Given the description of an element on the screen output the (x, y) to click on. 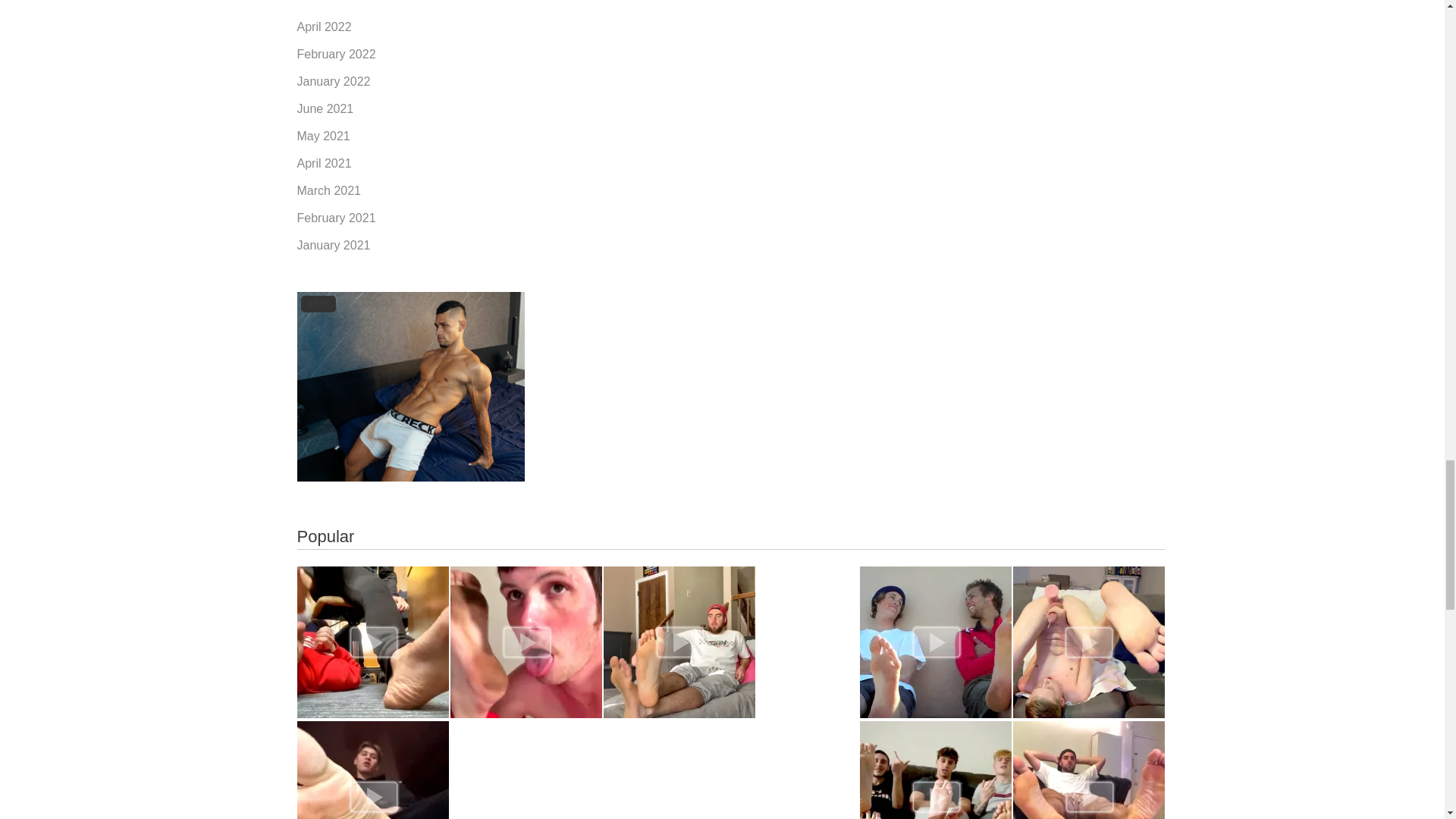
Dirty Socks Master Allows Slave To Worship His Feet (679, 642)
Master Max Dominates Slave With His Cock And Feet (372, 642)
3 Verbal Feet Masters Take Control (935, 770)
April 2021 (324, 163)
January 2022 (334, 81)
June 2021 (325, 108)
February 2021 (336, 217)
Blake Dyson Feet - Fucking Myself On The Couch (1088, 642)
February 2022 (336, 53)
Best Friends Feet In The Afternoon (935, 642)
Dirty Socks Master Takes It All Off (1088, 770)
April 2022 (324, 26)
March 2021 (329, 190)
Cocky Twink With Webbed Toes Demands Worship (372, 770)
My Life As A Dirty Foot Licker (525, 642)
